Given the description of an element on the screen output the (x, y) to click on. 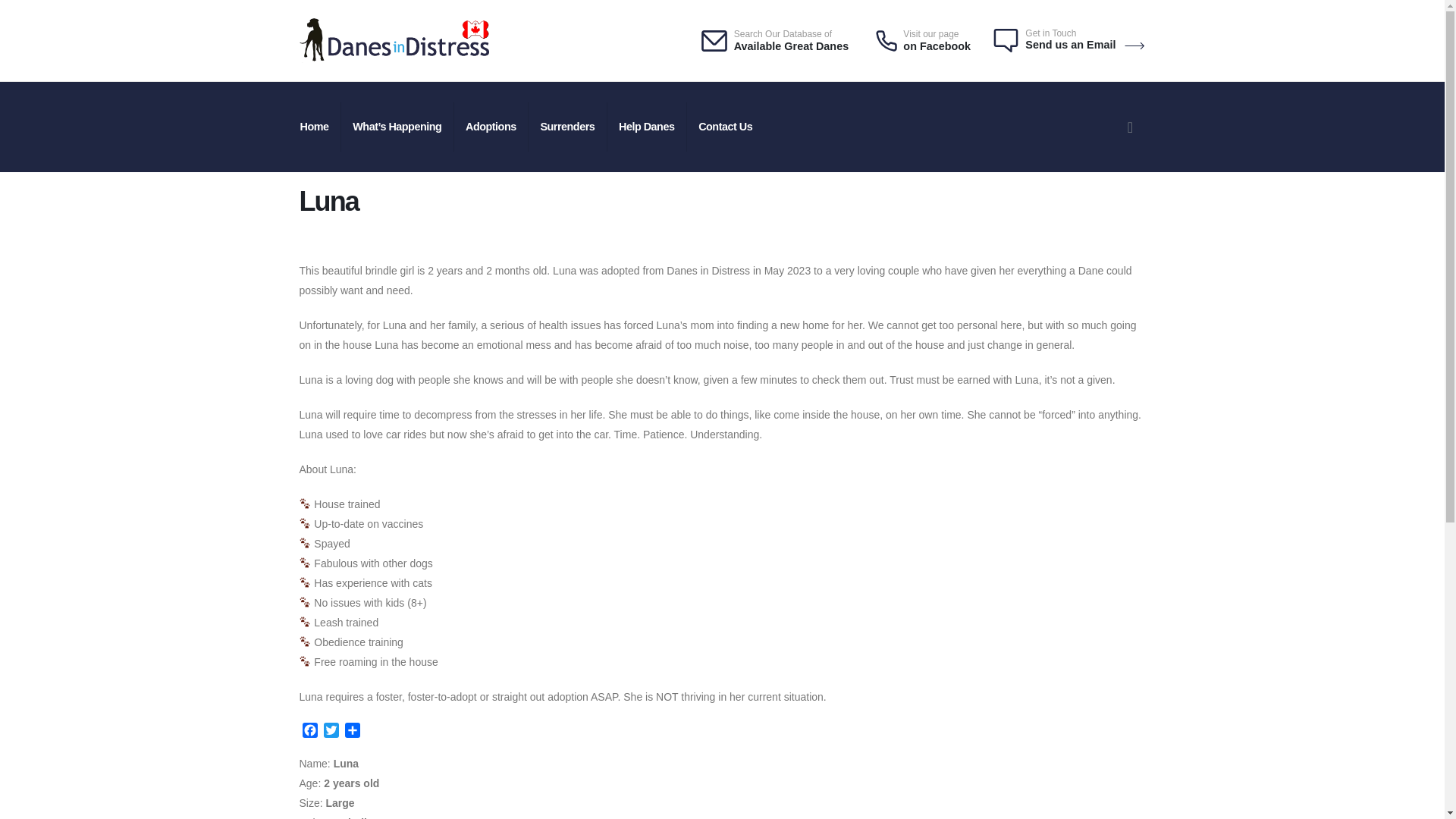
Available Great Danes (790, 46)
Send us an Email (1084, 44)
Twitter (330, 732)
Adoptions (491, 126)
Danes in Distress - Adopt a Great Dane! (392, 40)
Facebook (309, 732)
Help Danes (647, 126)
Surrenders (568, 126)
on Facebook (936, 46)
Contact Us (725, 126)
